Given the description of an element on the screen output the (x, y) to click on. 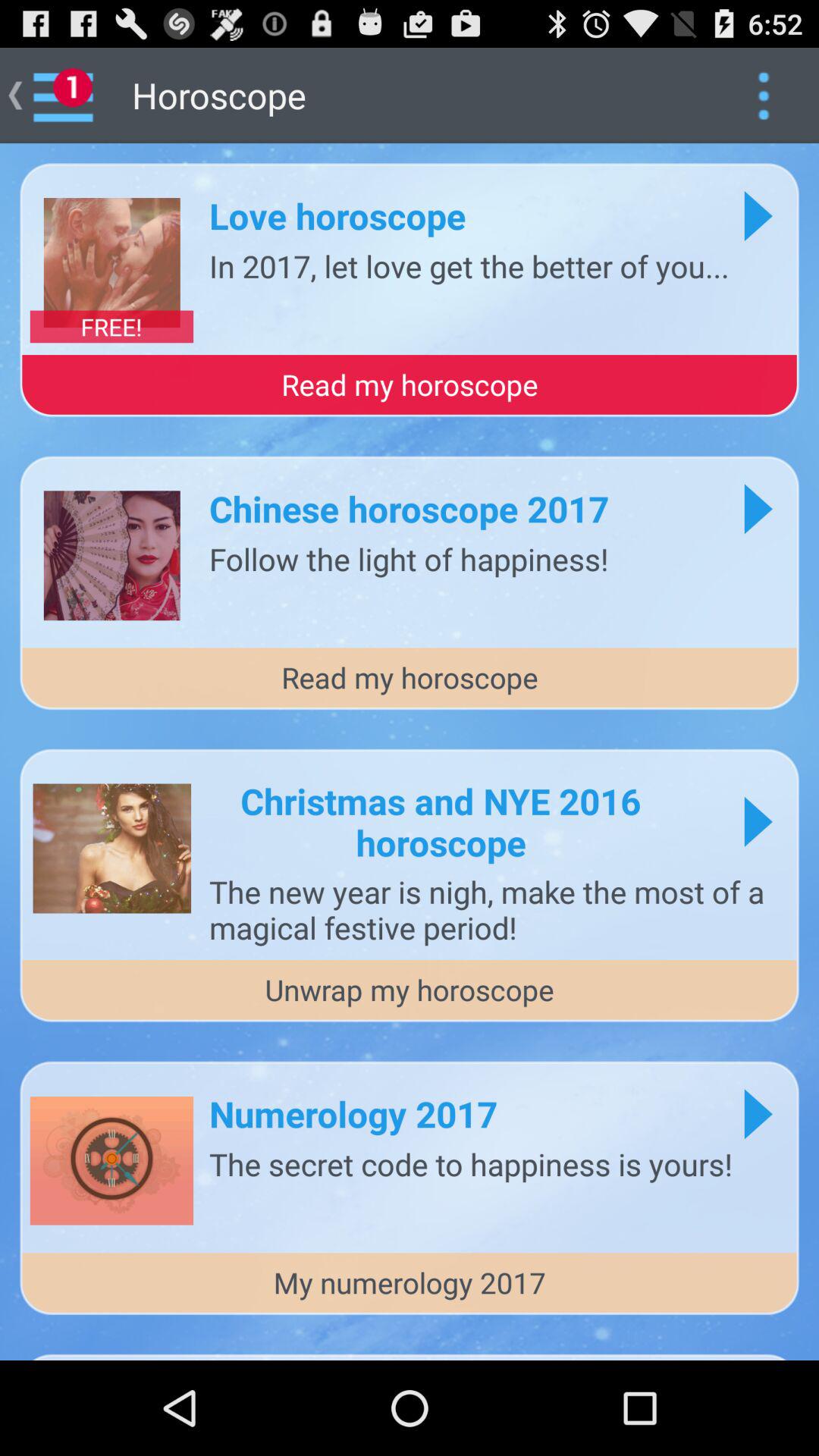
press icon below the read my horoscope item (440, 821)
